Given the description of an element on the screen output the (x, y) to click on. 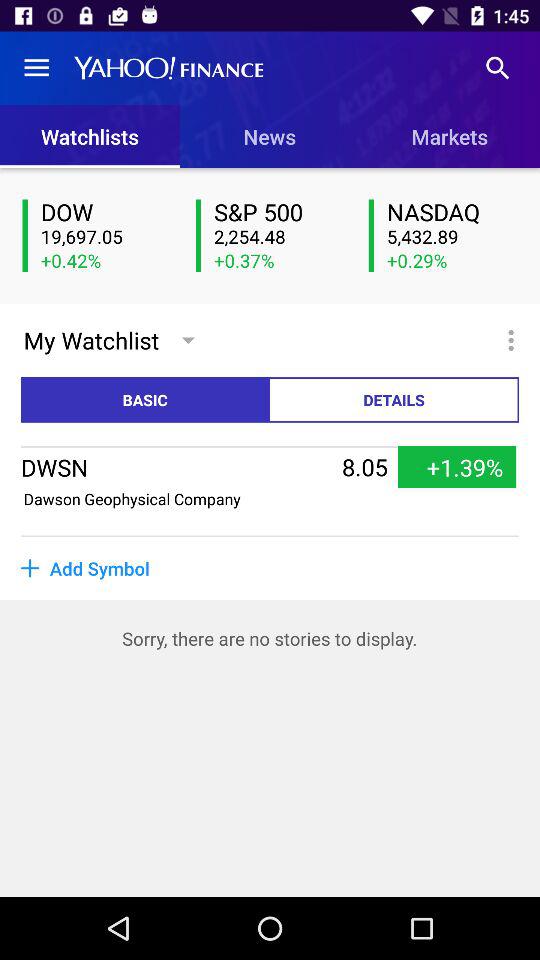
select +1.39% icon (457, 467)
